Given the description of an element on the screen output the (x, y) to click on. 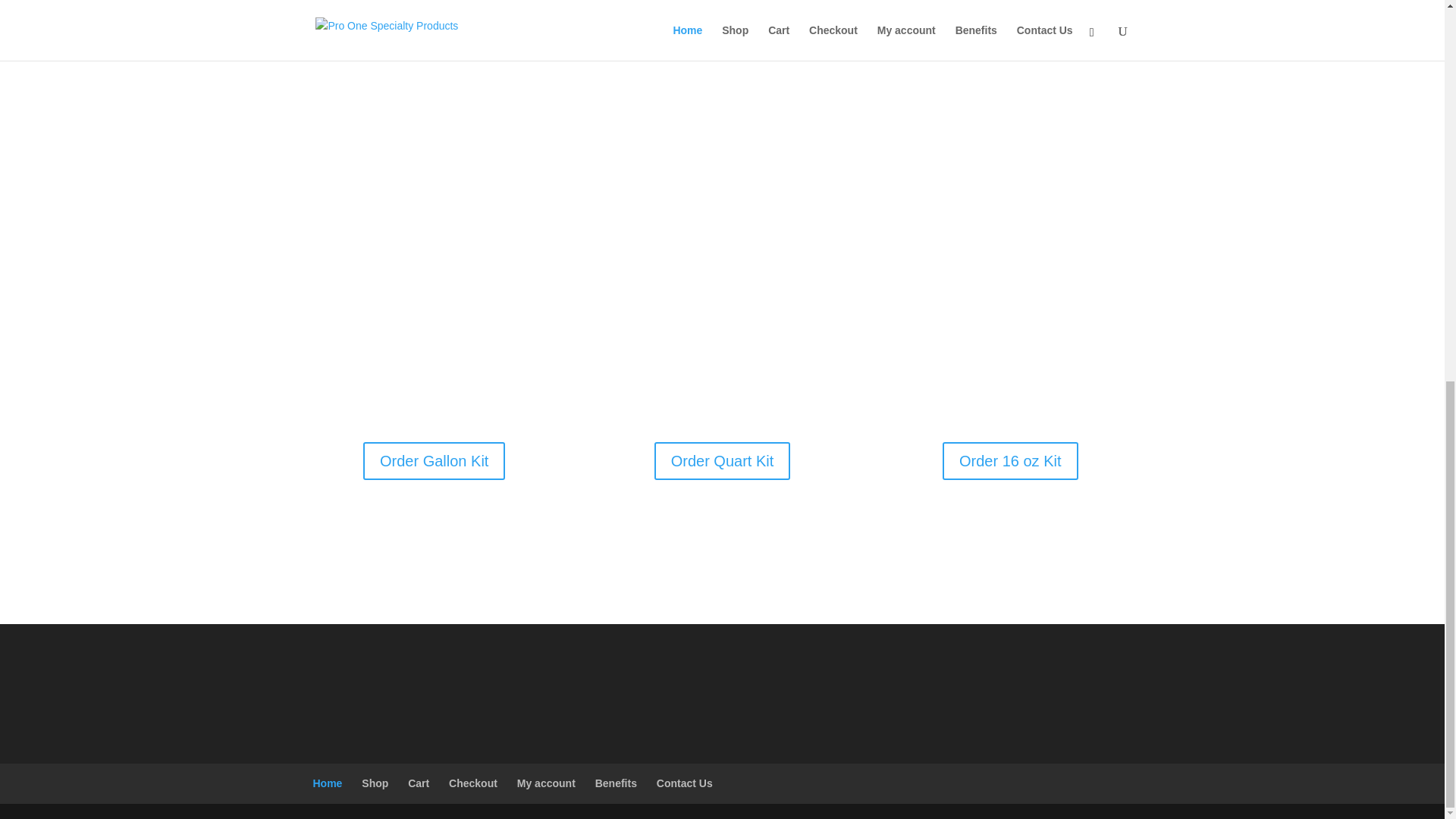
Order 16 oz Kit (1010, 460)
Home (327, 783)
My account (545, 783)
Order Quart Kit (721, 460)
Contact Us (684, 783)
Benefits (616, 783)
Cart (418, 783)
Shop (374, 783)
Checkout (472, 783)
Order Gallon Kit (433, 460)
